Given the description of an element on the screen output the (x, y) to click on. 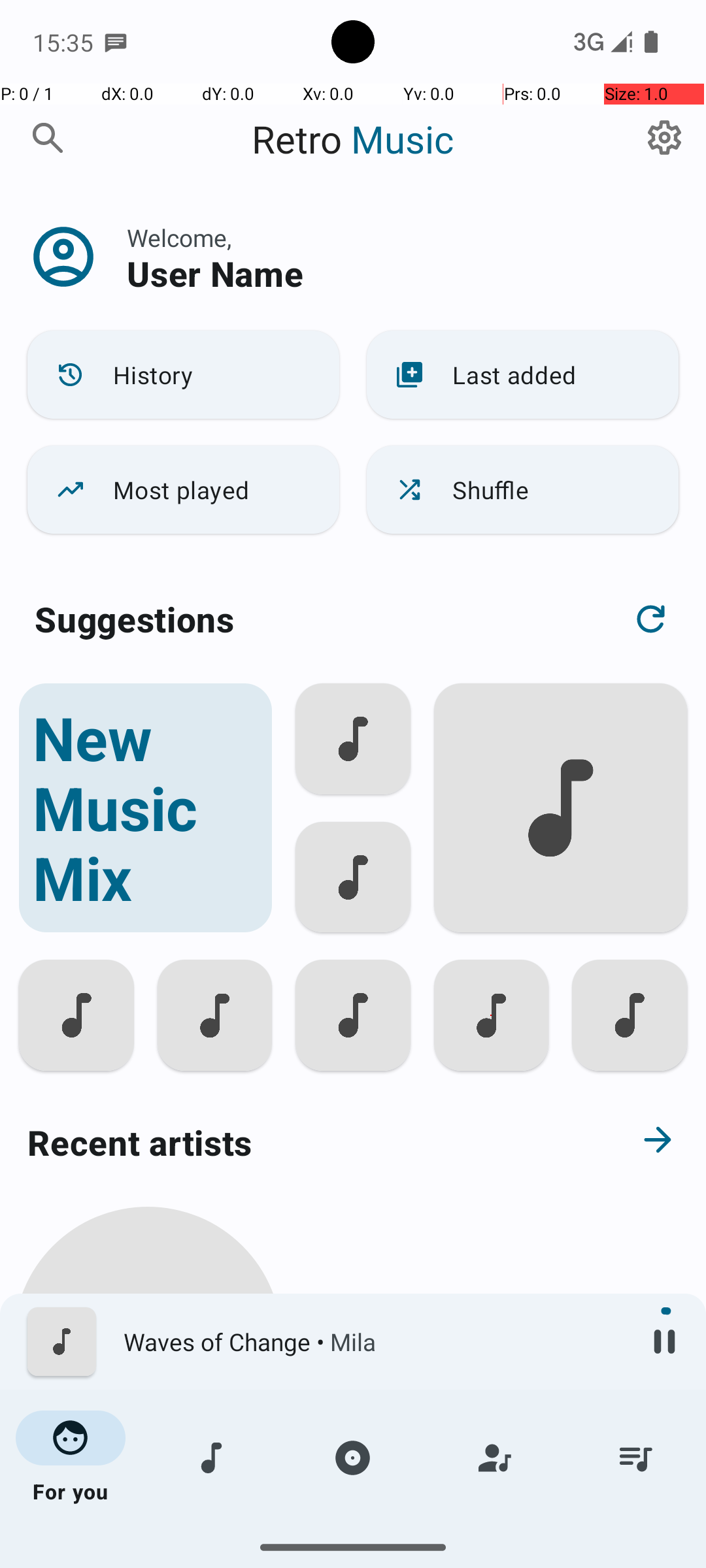
Waves of Change • Mila Element type: android.widget.TextView (372, 1341)
Thomas Element type: android.widget.TextView (147, 1503)
